Given the description of an element on the screen output the (x, y) to click on. 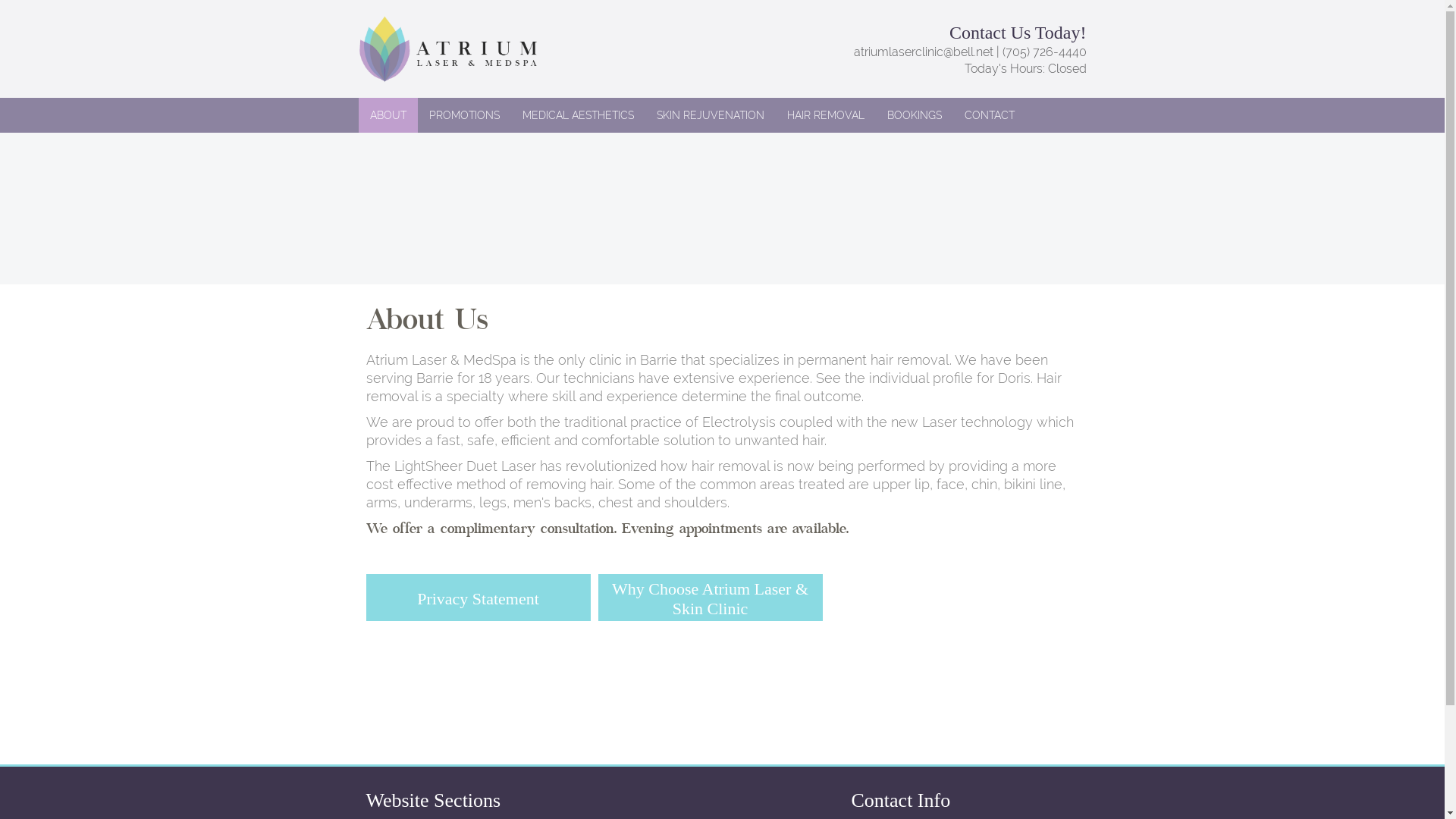
Why Choose Atrium Laser & Skin Clinic Element type: text (709, 599)
HAIR REMOVAL Element type: text (825, 114)
atriumlaserclinic@bell.net Element type: text (923, 51)
CONTACT Element type: text (988, 114)
Privacy Statement Element type: text (477, 599)
Closed Element type: text (1067, 68)
PROMOTIONS Element type: text (463, 114)
BOOKINGS Element type: text (913, 114)
MEDICAL AESTHETICS Element type: text (578, 114)
ABOUT Element type: text (387, 114)
SKIN REJUVENATION Element type: text (709, 114)
